Given the description of an element on the screen output the (x, y) to click on. 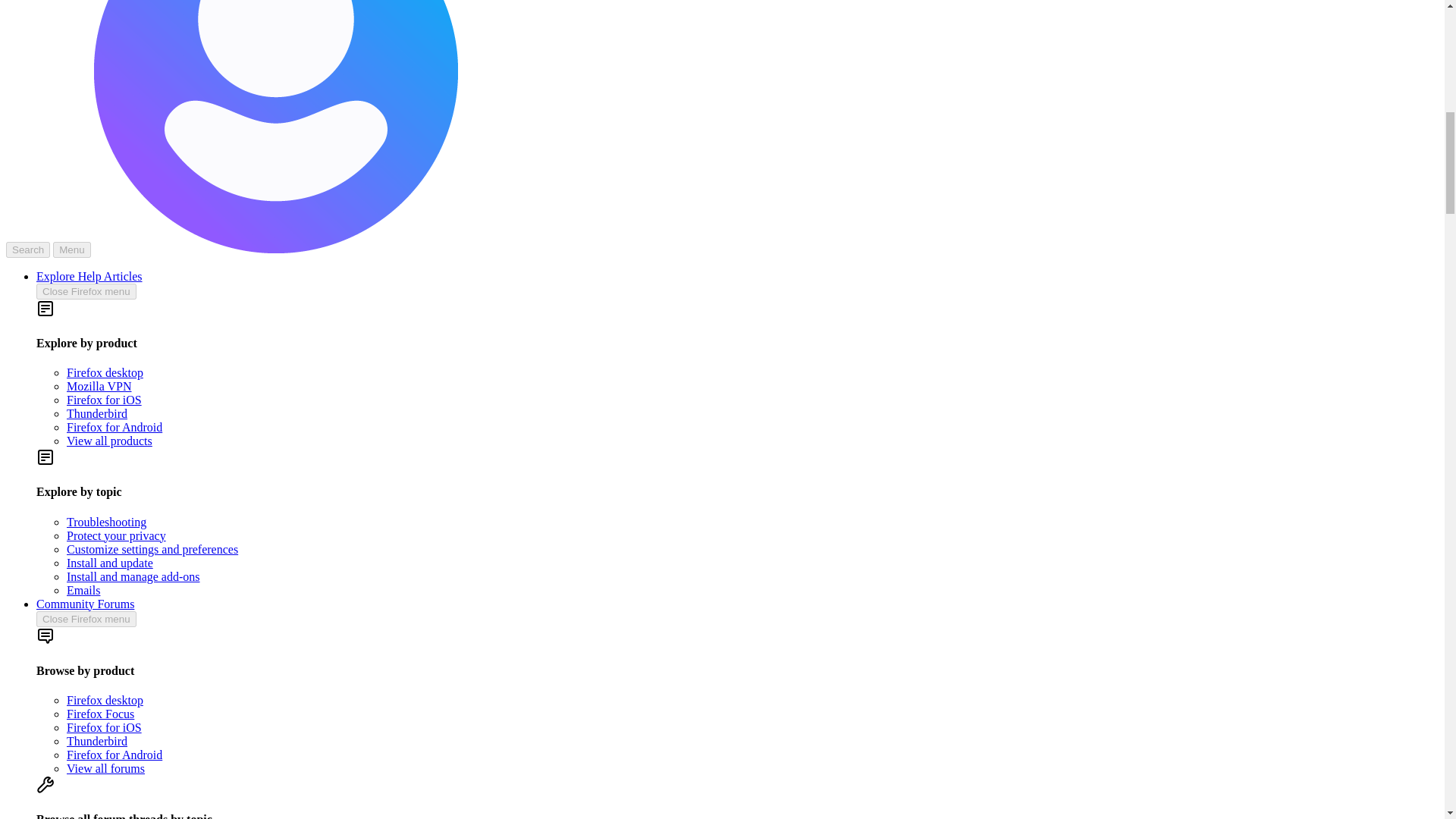
Thunderbird (97, 413)
Protect your privacy (115, 535)
View all products (109, 440)
Emails (83, 590)
Close Firefox menu (86, 291)
Customize settings and preferences (152, 549)
Firefox for iOS (103, 727)
Community Forums (84, 603)
Firefox desktop (104, 699)
Search (27, 249)
Firefox Focus (99, 713)
Firefox for iOS (103, 399)
Close Firefox menu (86, 618)
Explore Help Articles (89, 276)
Mozilla VPN (98, 386)
